Given the description of an element on the screen output the (x, y) to click on. 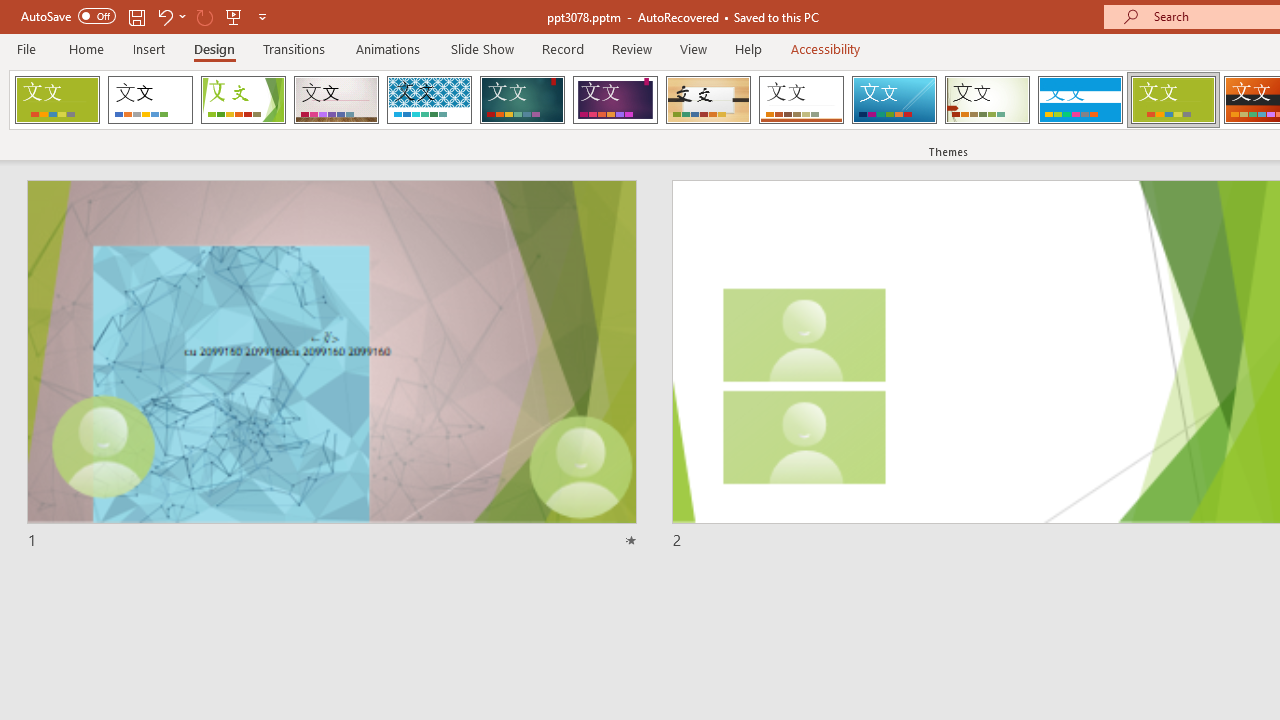
Basis (1172, 100)
Gallery (336, 100)
Facet (243, 100)
Slice (893, 100)
